Given the description of an element on the screen output the (x, y) to click on. 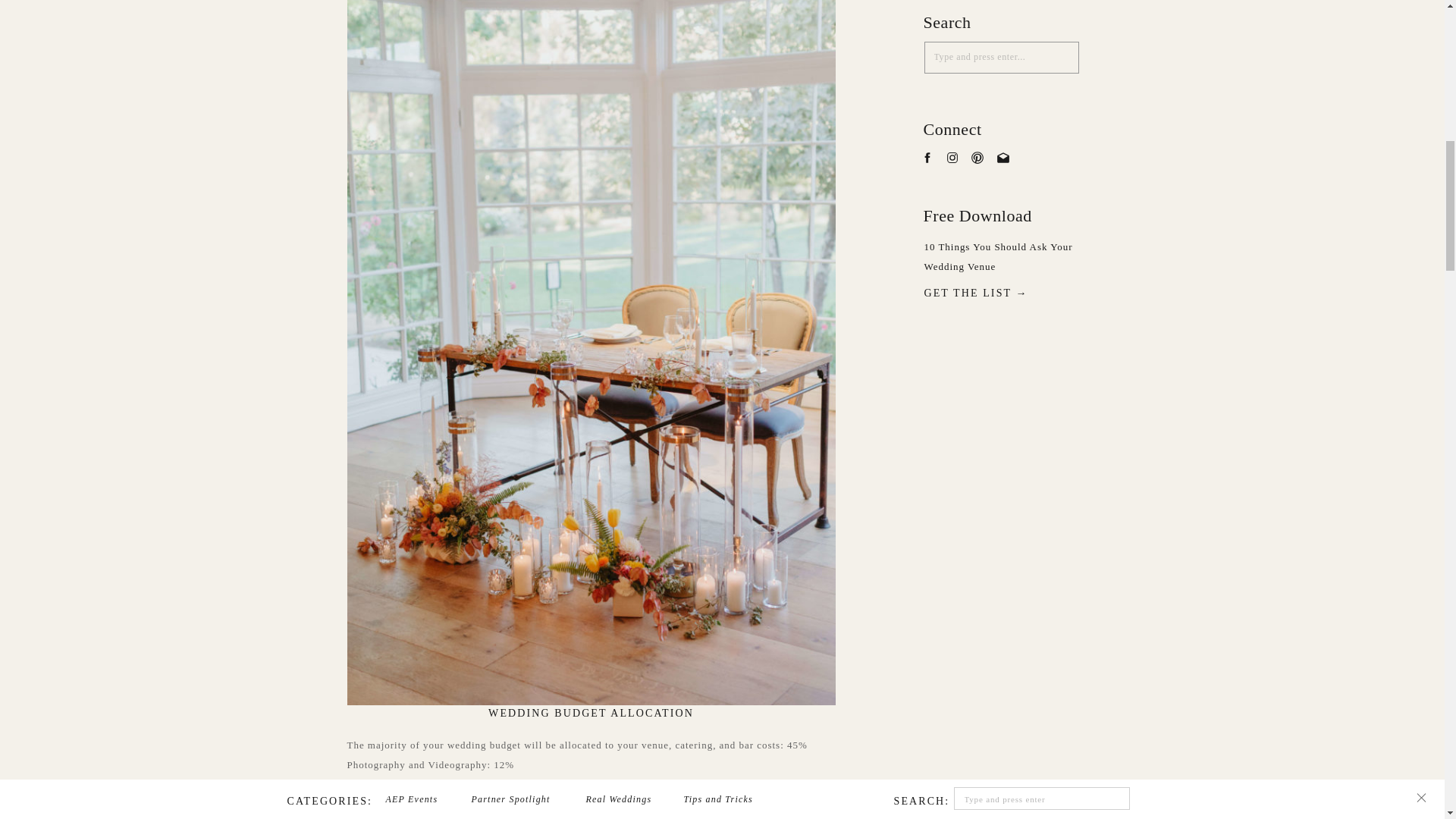
10 Things You Should Ask Your Wedding Venue (1012, 264)
